Given the description of an element on the screen output the (x, y) to click on. 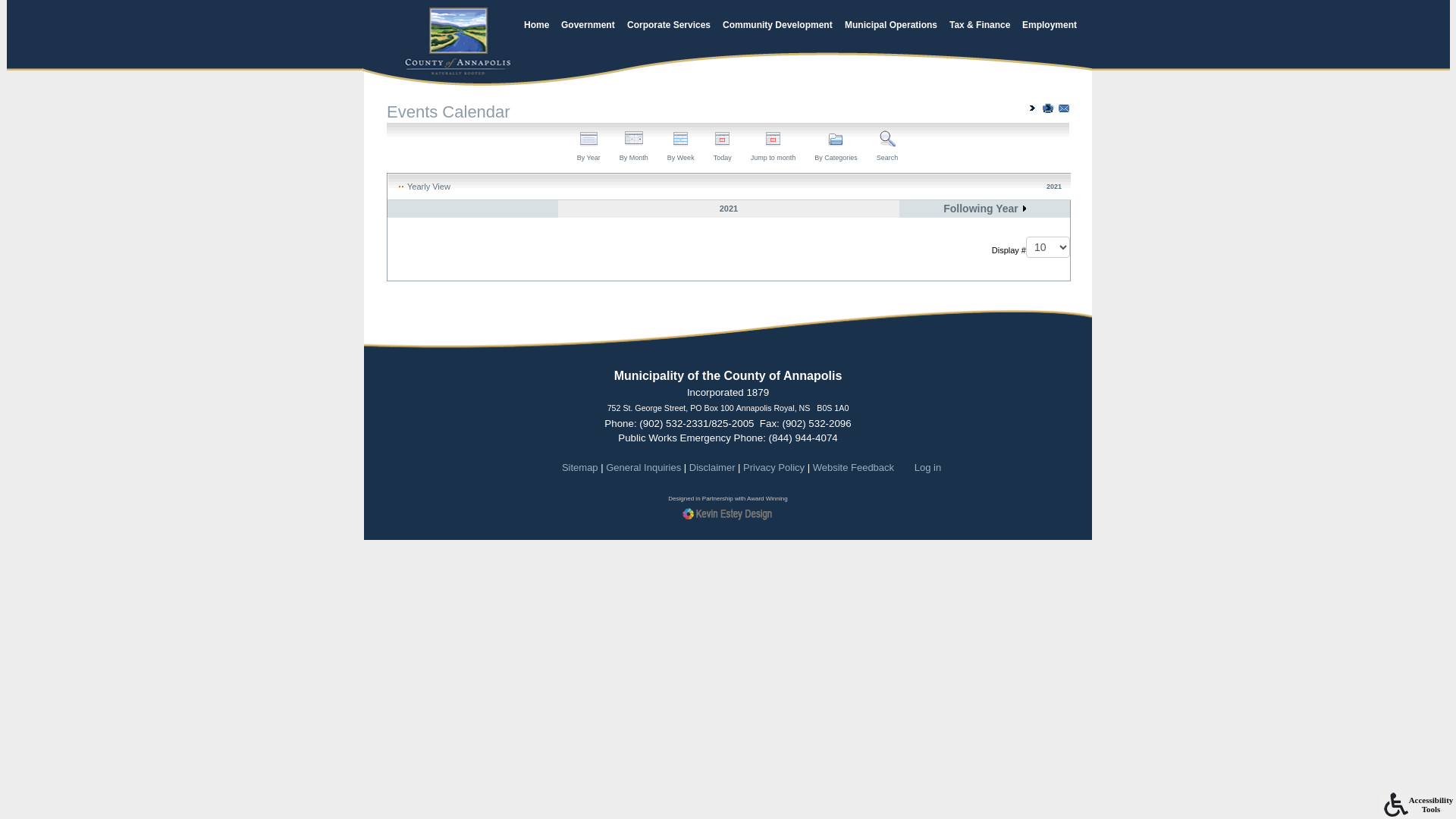
Jump to month Element type: text (773, 147)
General Inquiries Element type: text (642, 467)
By Week Element type: text (680, 147)
Employment Element type: text (1049, 25)
Search Element type: text (887, 147)
By Year Element type: text (588, 147)
By Month Element type: text (633, 147)
Government Element type: text (588, 25)
EMAIL Element type: hover (1063, 108)
Log in Element type: text (927, 467)
Community Development Element type: text (777, 25)
Sitemap Element type: text (579, 467)
Following Year Element type: text (984, 208)
Tax & Finance Element type: text (979, 25)
Municipal Operations Element type: text (890, 25)
Corporate Services Element type: text (668, 25)
Website Feedback Element type: text (853, 467)
Privacy Policy Element type: text (773, 467)
Today Element type: text (722, 147)
By Categories Element type: text (835, 147)
Print Element type: hover (1047, 108)
Home Element type: text (536, 25)
Disclaimer Element type: text (712, 467)
